Given the description of an element on the screen output the (x, y) to click on. 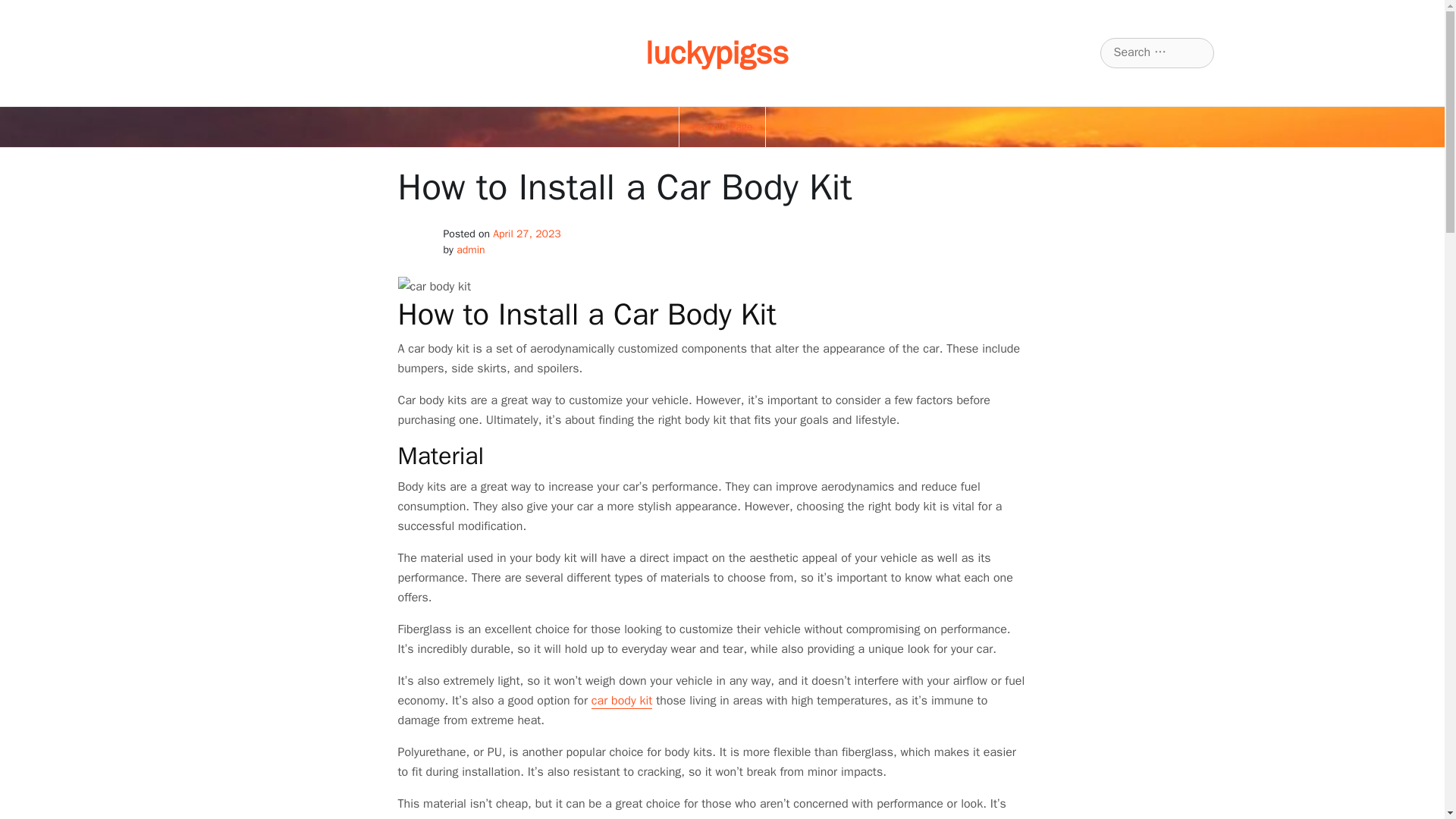
Search (30, 12)
luckypigss (717, 52)
April 27, 2023 (526, 233)
Sample Page (721, 127)
admin (470, 249)
Search (31, 12)
car body kit (621, 700)
